Given the description of an element on the screen output the (x, y) to click on. 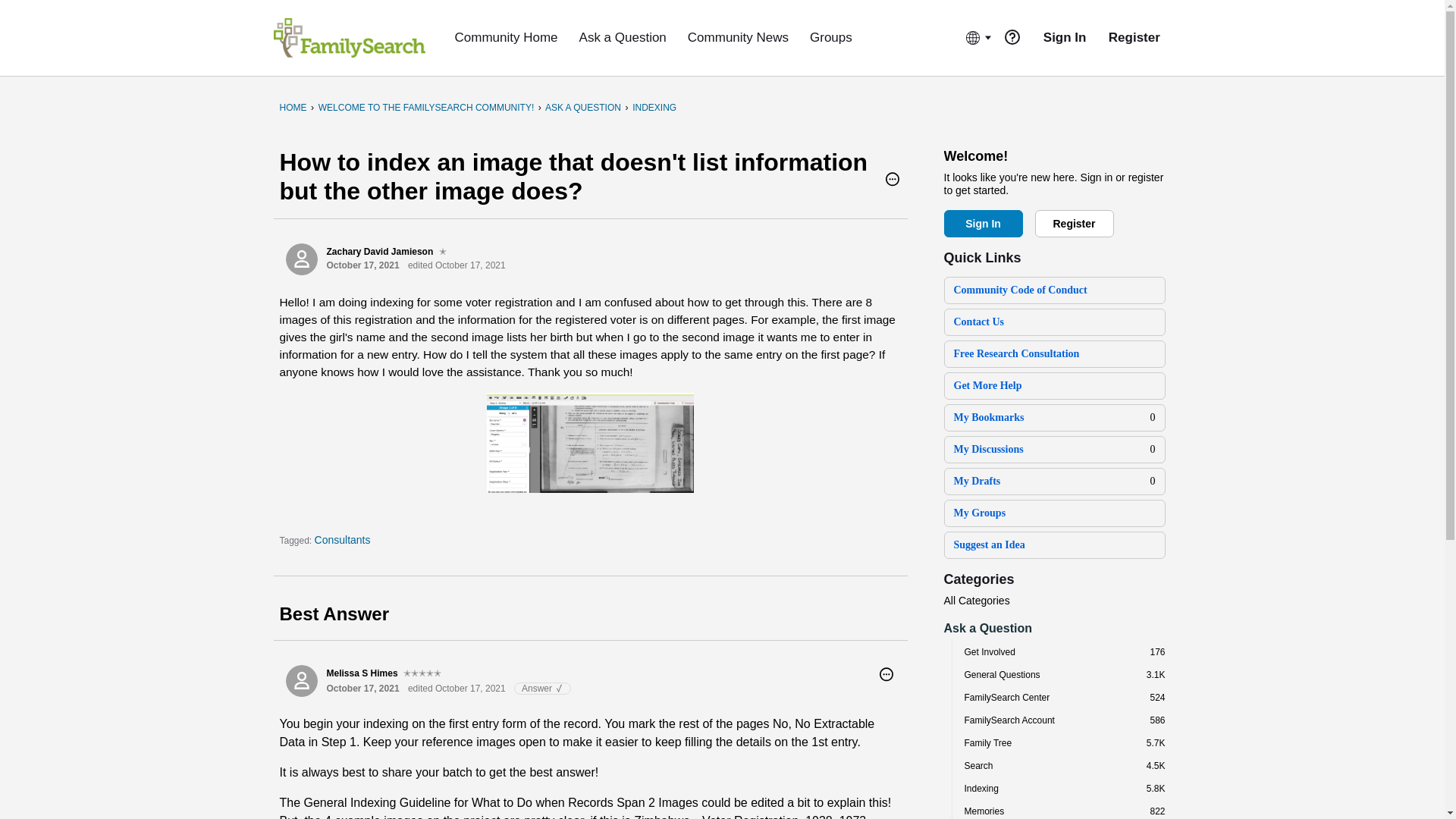
Sign In (982, 222)
Level 5 (422, 673)
notice-question (1012, 36)
October 17, 2021 8:16PM (362, 688)
3,145 discussions (1156, 674)
Zachary David Jamieson (301, 259)
Level 1 (442, 251)
Melissa S Himes (301, 680)
October 17, 2021 8:06PM (362, 265)
Edited October 17, 2021 8:10PM by Image Moderator. (456, 265)
Register (1073, 222)
524 discussions (1157, 697)
Edited October 17, 2021 8:21PM by Melissa S Himes. (456, 688)
176 discussions (1157, 652)
